Given the description of an element on the screen output the (x, y) to click on. 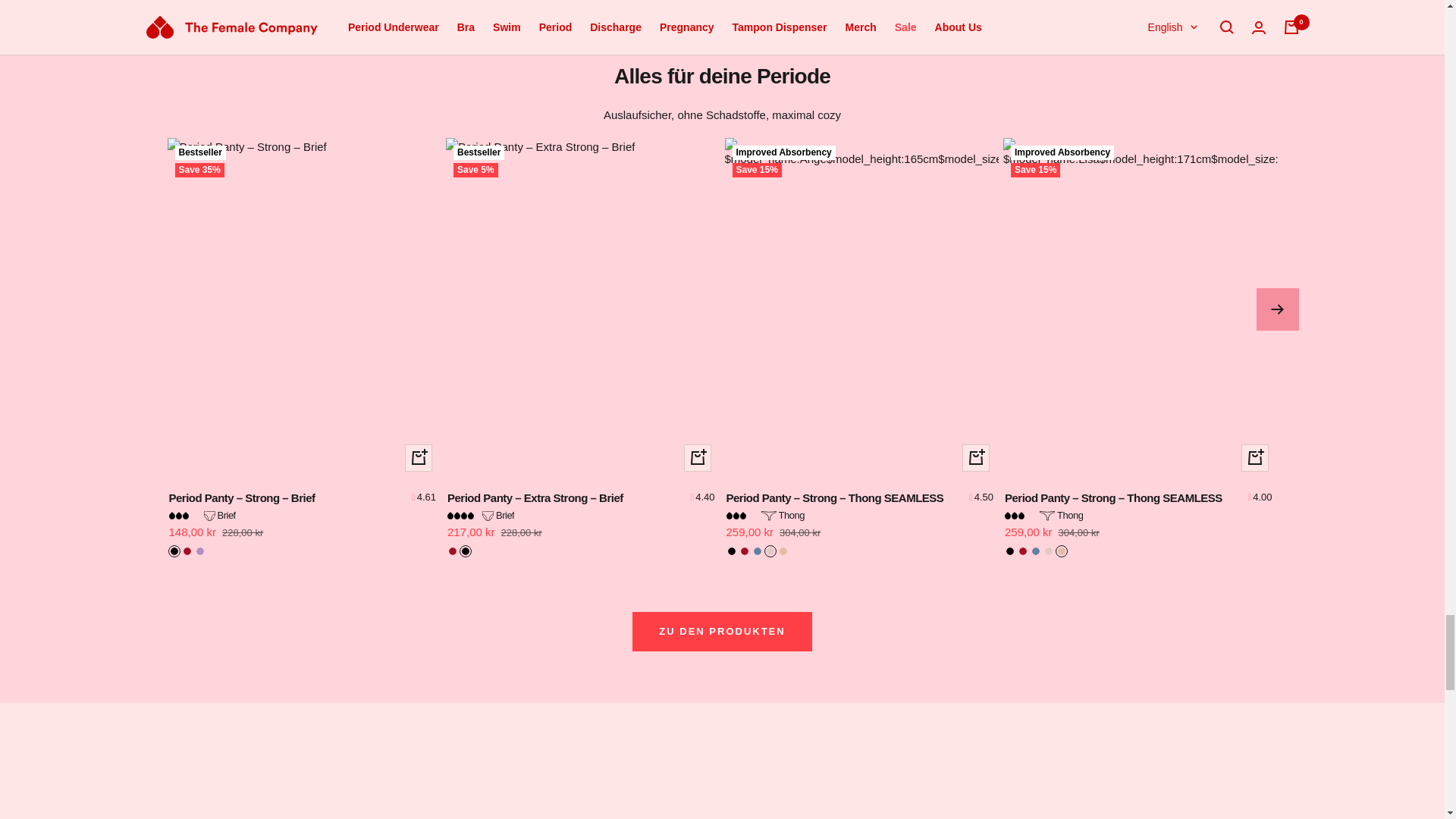
4.4 Stars - 222 Bewertungen (703, 498)
4.5 Stars - 6 Bewertungen (983, 498)
4 Stars - 4 Bewertungen (1261, 498)
4.61 Stars - 469 Bewertungen (425, 498)
